Given the description of an element on the screen output the (x, y) to click on. 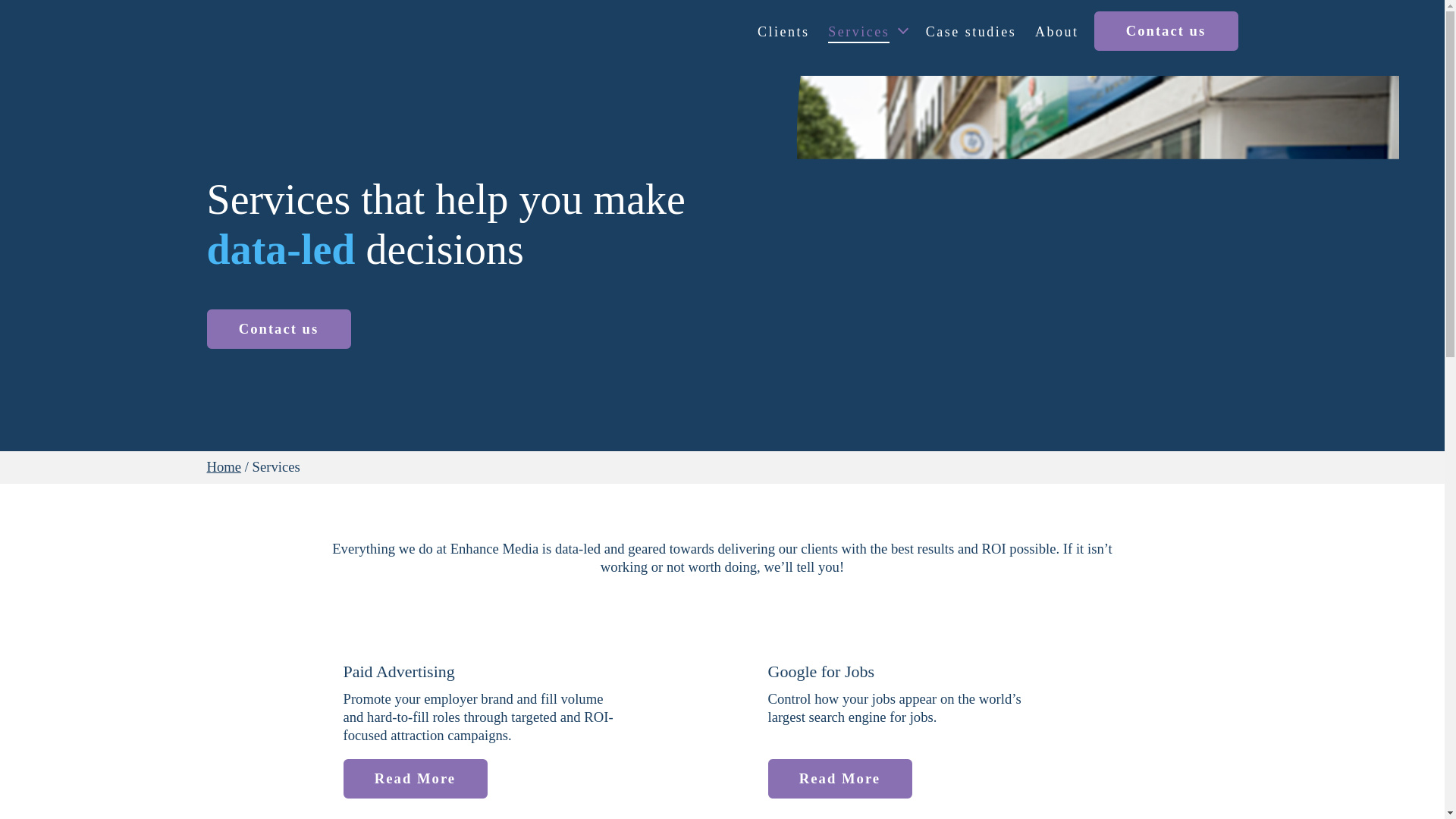
Contact us (1165, 30)
Home (223, 466)
Clients (783, 32)
Case studies (971, 32)
Services (867, 32)
Read More (414, 778)
Read More (839, 778)
About (1056, 32)
Contact us (278, 328)
